Given the description of an element on the screen output the (x, y) to click on. 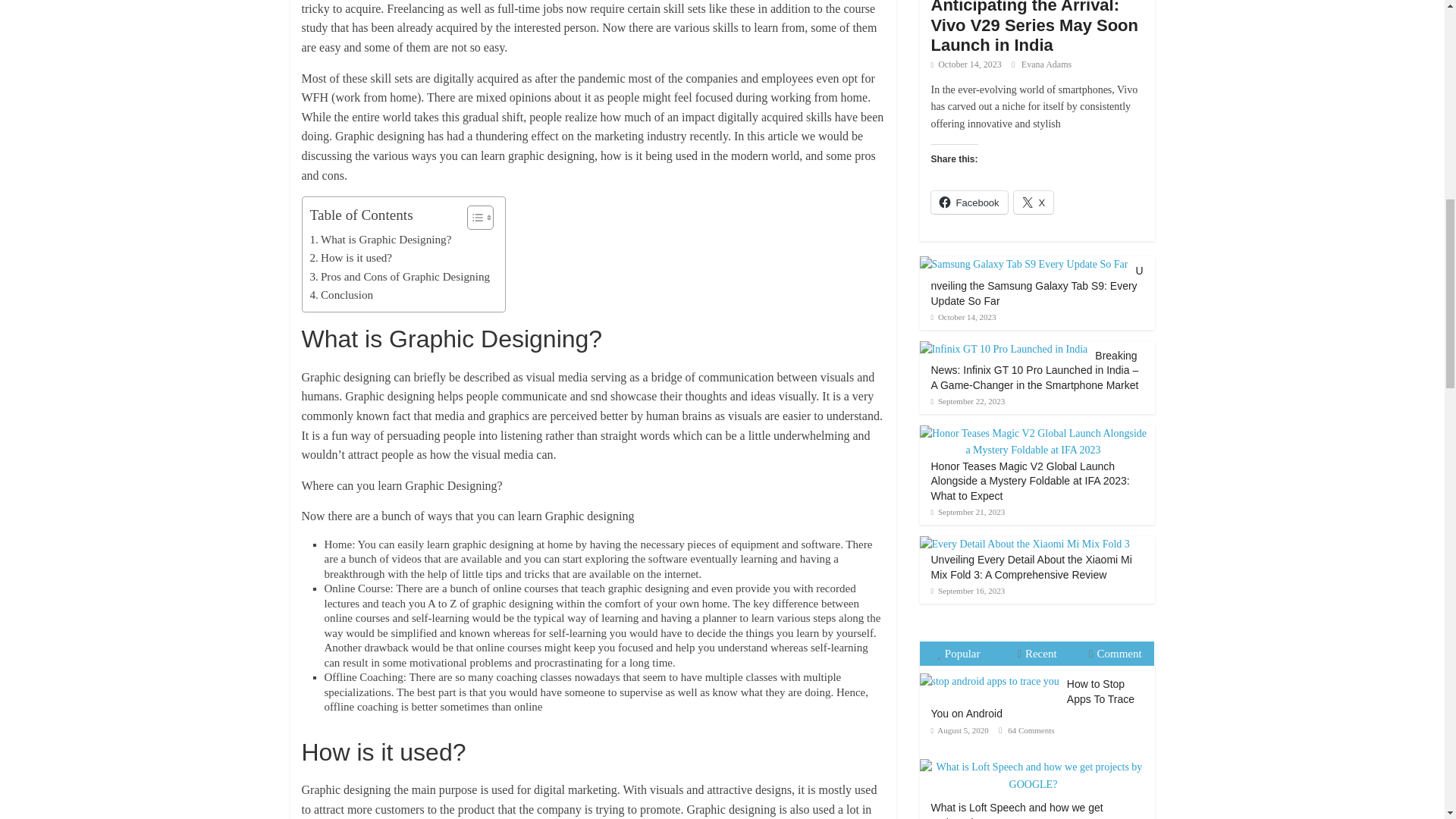
How is it used? (349, 257)
Pros and Cons of Graphic Designing (398, 276)
What is Graphic Designing? (379, 239)
How is it used? (349, 257)
Conclusion (340, 294)
Pros and Cons of Graphic Designing (398, 276)
What is Graphic Designing? (379, 239)
Conclusion (340, 294)
